Given the description of an element on the screen output the (x, y) to click on. 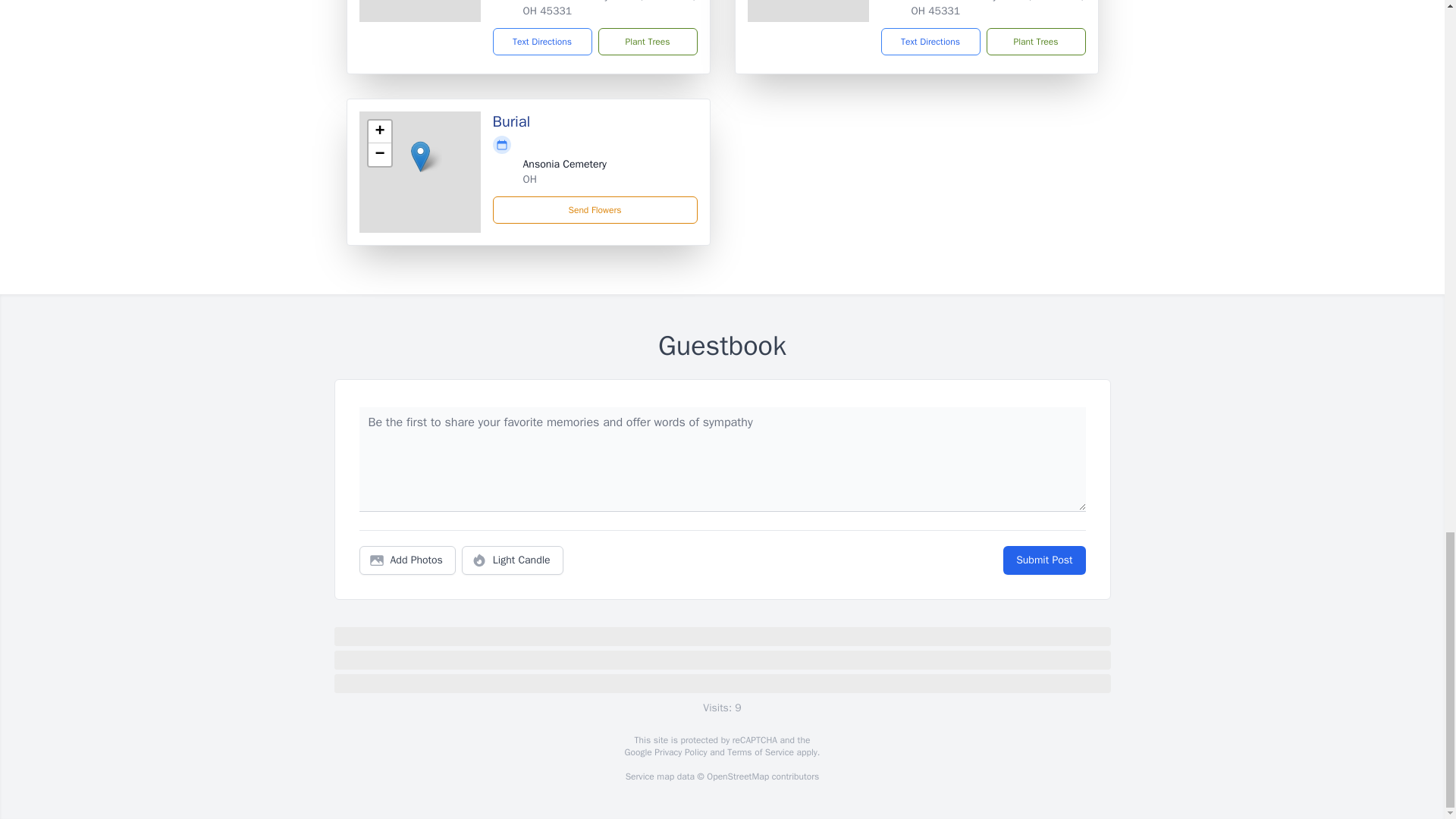
Text Directions (929, 41)
1000 N. Broadway Street, Greenville, OH 45331 (997, 8)
Send Flowers (595, 209)
Zoom out (379, 154)
Plant Trees (646, 41)
1000 N. Broadway Street, Greenville, OH 45331 (608, 8)
Plant Trees (1034, 41)
Text Directions (542, 41)
Zoom in (379, 131)
OH (529, 178)
